Given the description of an element on the screen output the (x, y) to click on. 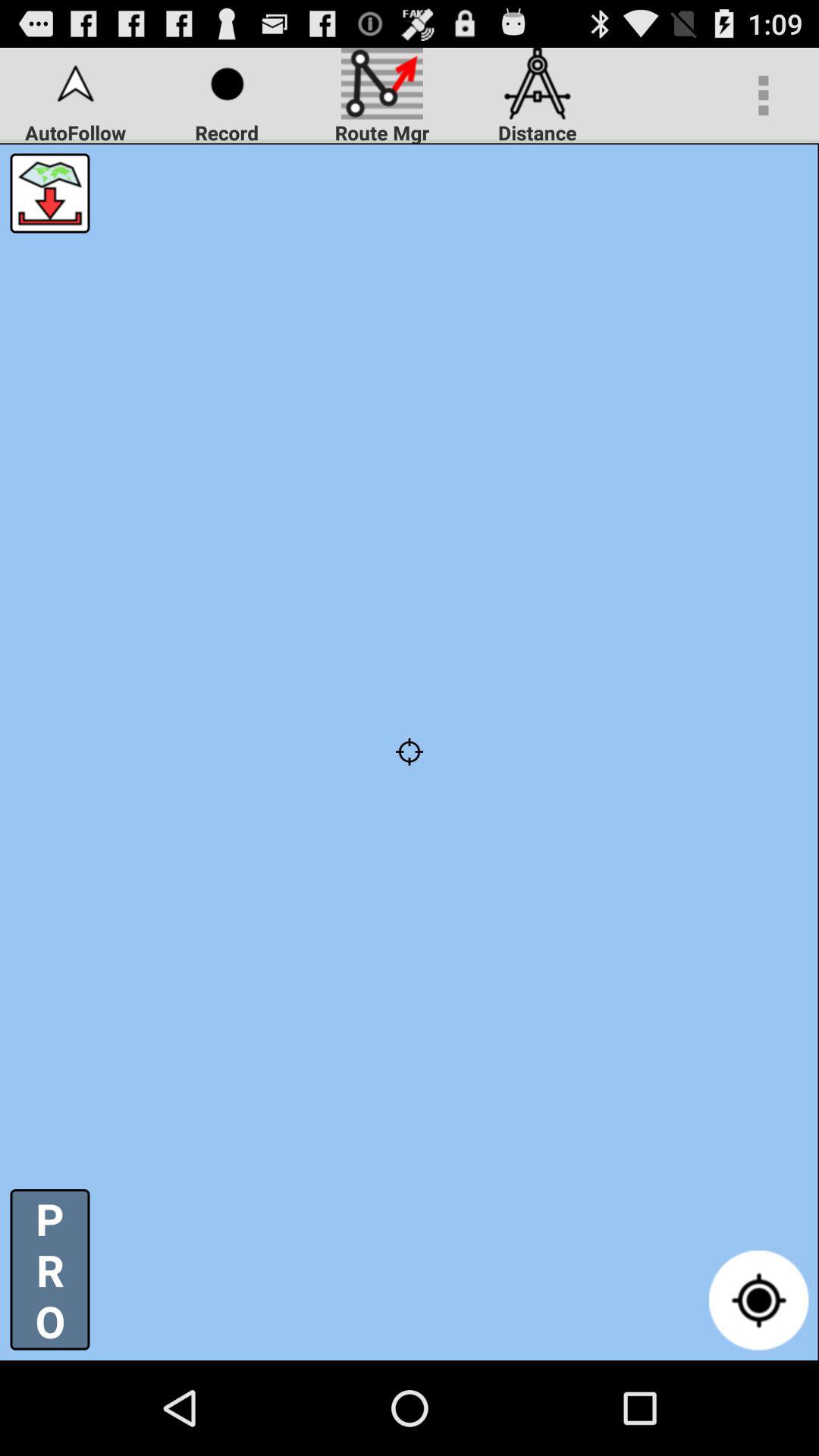
click the icon next to the p
r
o button (758, 1300)
